Given the description of an element on the screen output the (x, y) to click on. 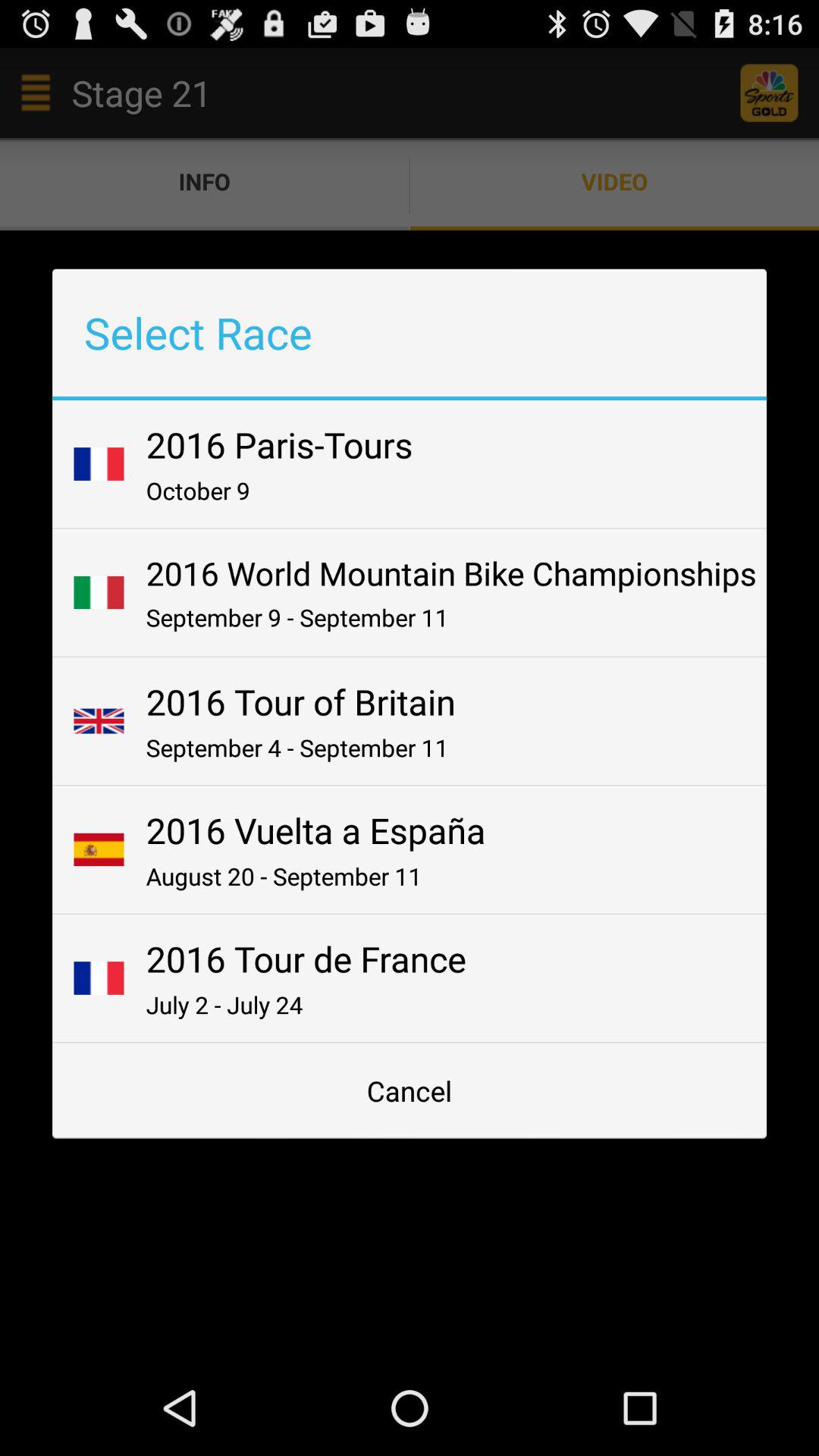
launch cancel button (409, 1090)
